Given the description of an element on the screen output the (x, y) to click on. 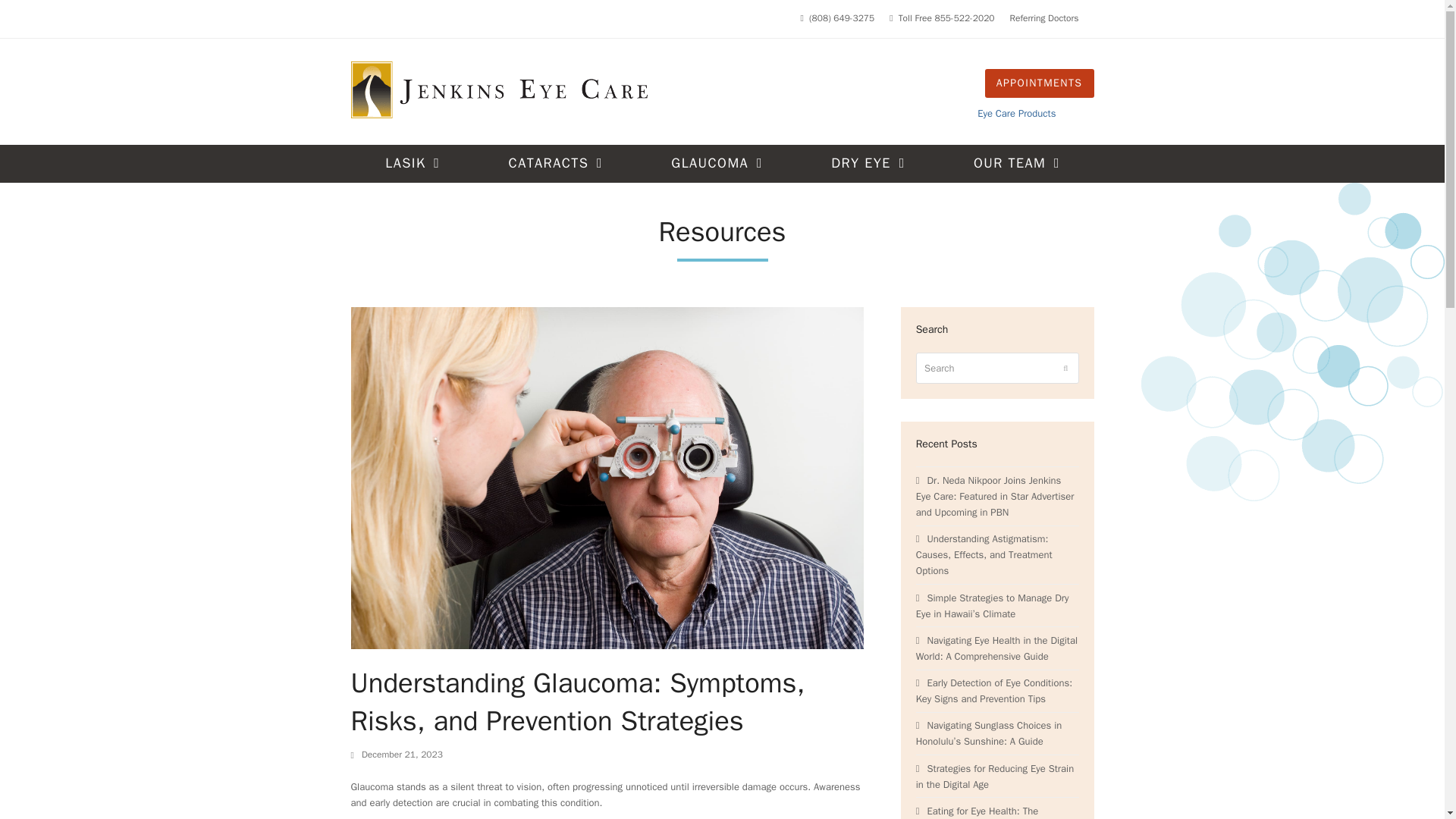
DRY EYE (867, 163)
GLAUCOMA (716, 163)
Eye Care Products (1015, 113)
CATARACTS (555, 163)
APPOINTMENTS (1039, 82)
OUR TEAM (1016, 163)
Toll Free 855-522-2020 (946, 18)
LASIK (411, 163)
